Given the description of an element on the screen output the (x, y) to click on. 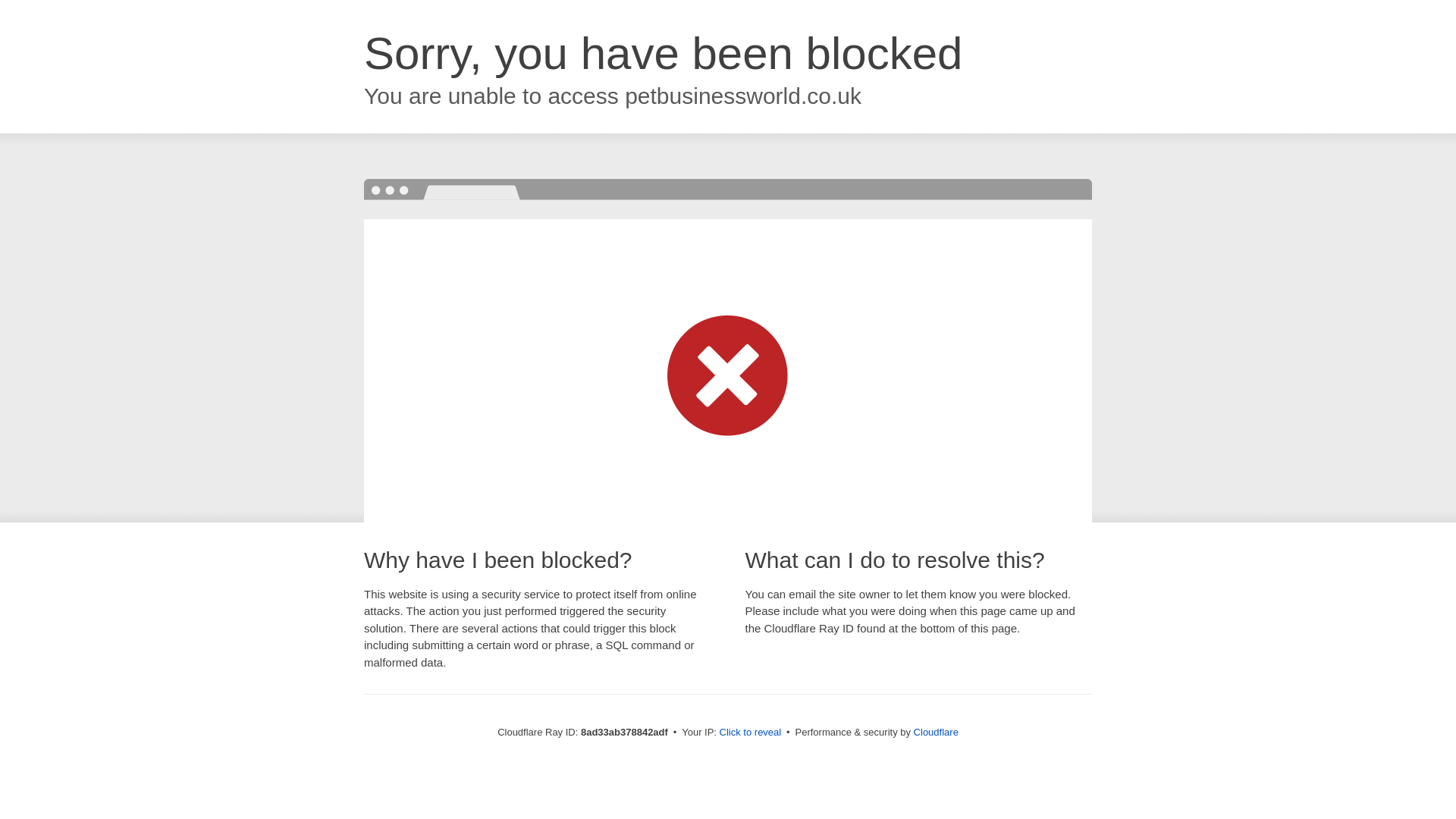
Click to reveal (750, 732)
Cloudflare (936, 731)
